Given the description of an element on the screen output the (x, y) to click on. 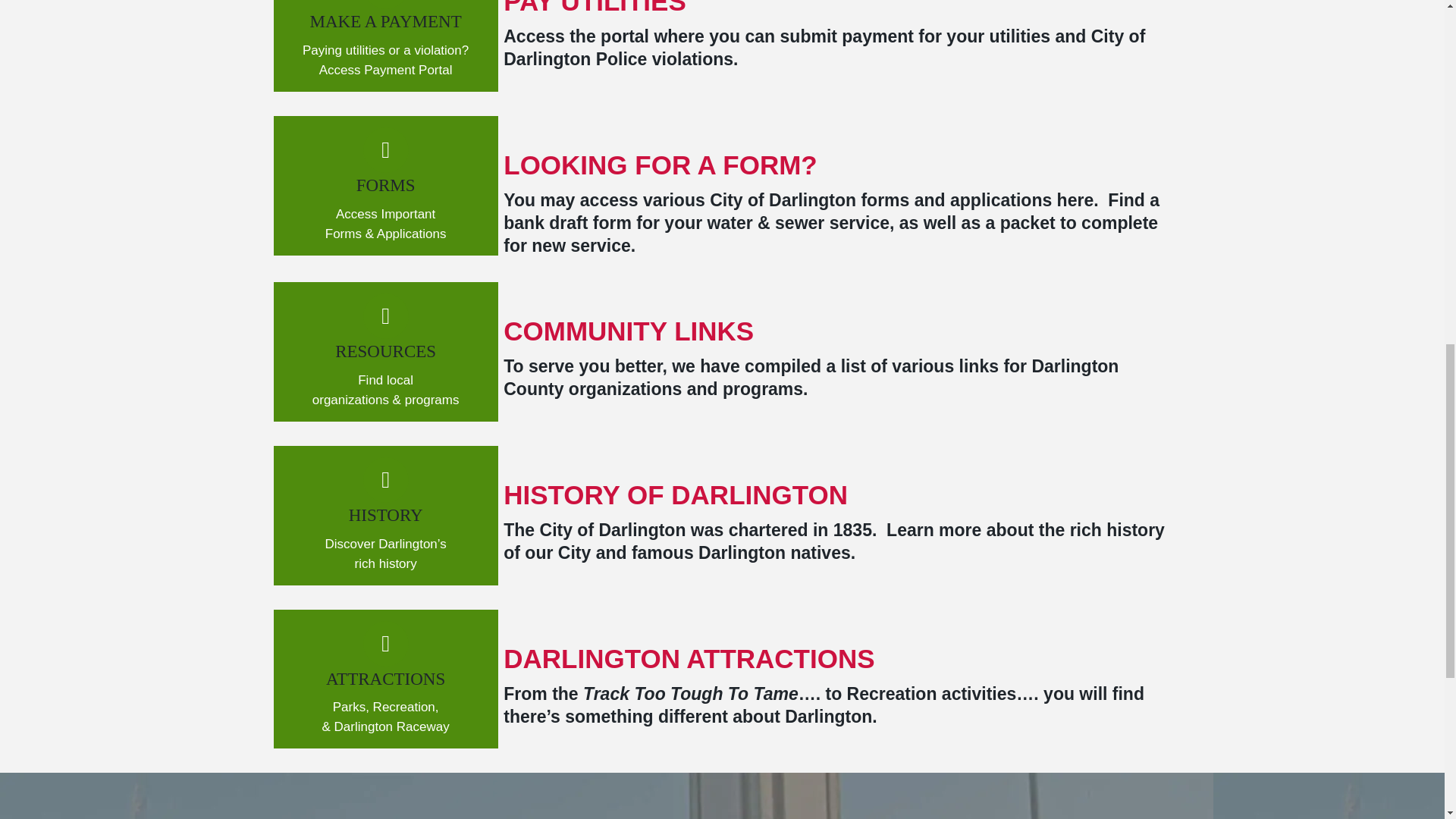
FORMS (385, 185)
MAKE A PAYMENT (384, 21)
HISTORY (386, 515)
ATTRACTIONS (385, 678)
RESOURCES (384, 351)
